Given the description of an element on the screen output the (x, y) to click on. 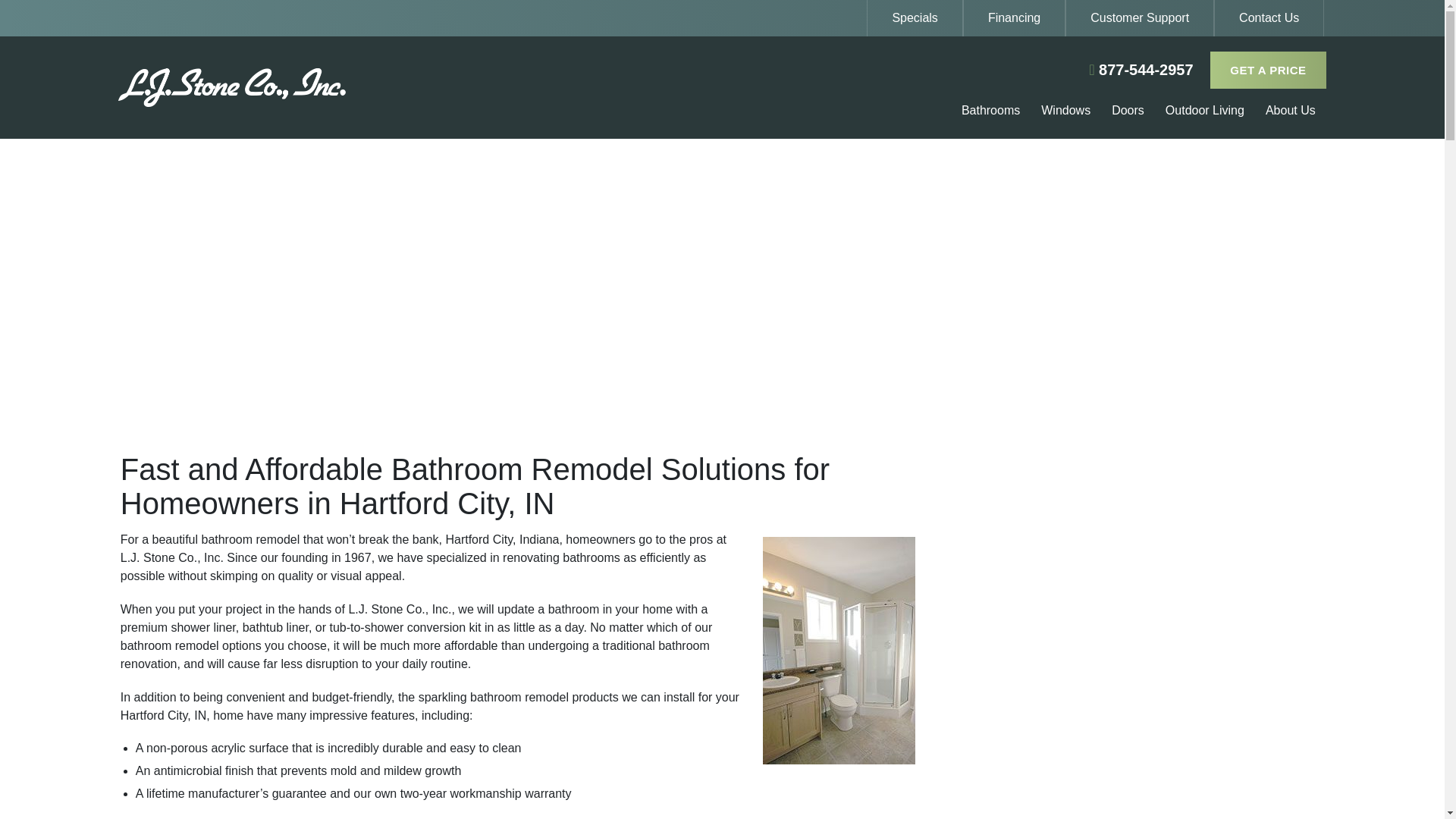
Outdoor Living (1205, 112)
Bathrooms (990, 112)
Doors (1128, 112)
Financing (1013, 18)
Customer Support (1139, 18)
Contact Us (1268, 18)
GET A PRICE (1267, 69)
Specials (914, 18)
L. J.  Stone Company, Inc. (319, 87)
877-544-2957 (1140, 69)
